Given the description of an element on the screen output the (x, y) to click on. 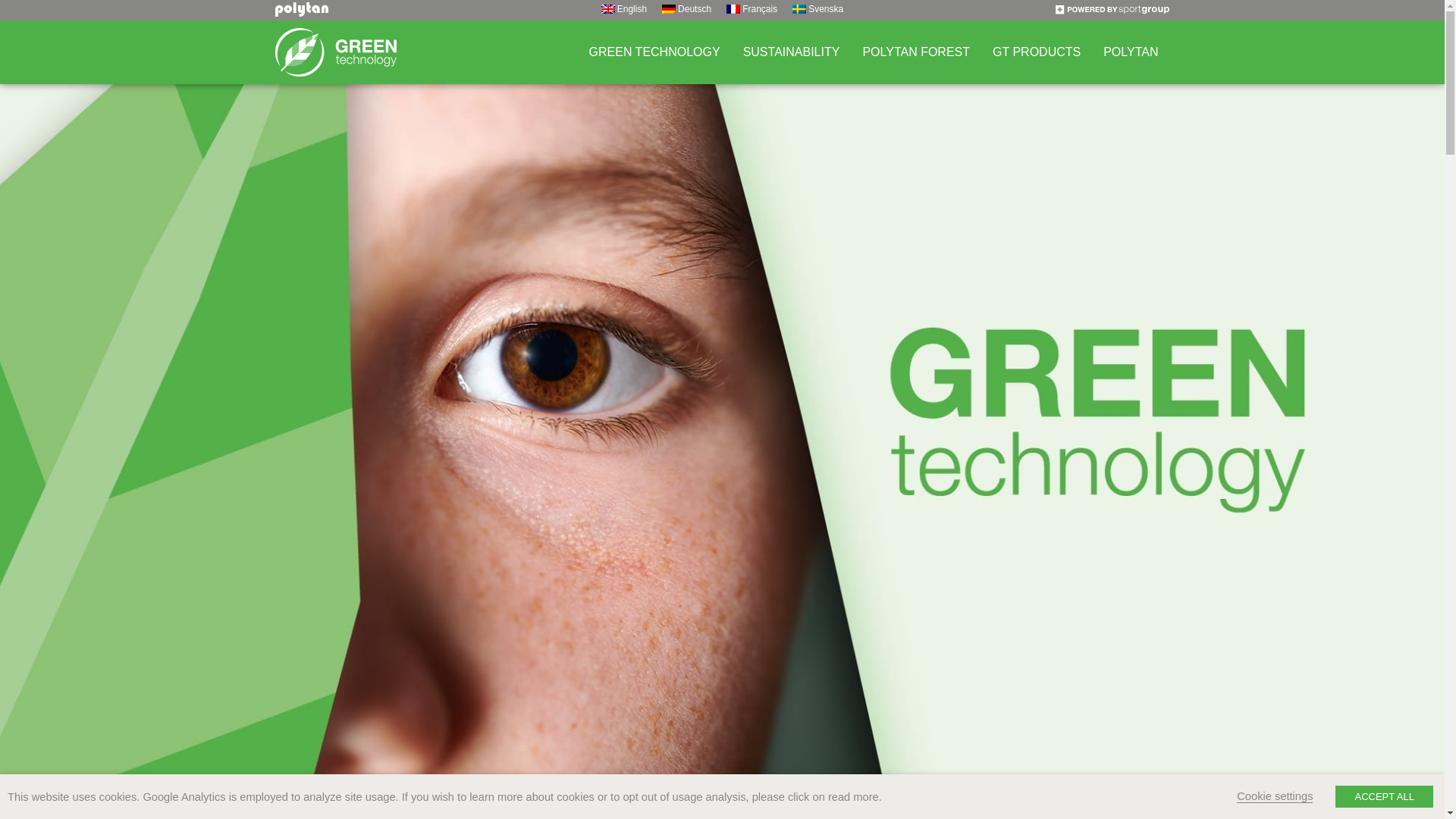
POLYTAN (1130, 51)
SUSTAINABILITY (791, 51)
Svenska (817, 9)
POLYTAN FOREST (915, 51)
Deutsch (686, 9)
GT PRODUCTS (1036, 51)
English (623, 9)
GREEN TECHNOLOGY (655, 51)
